Given the description of an element on the screen output the (x, y) to click on. 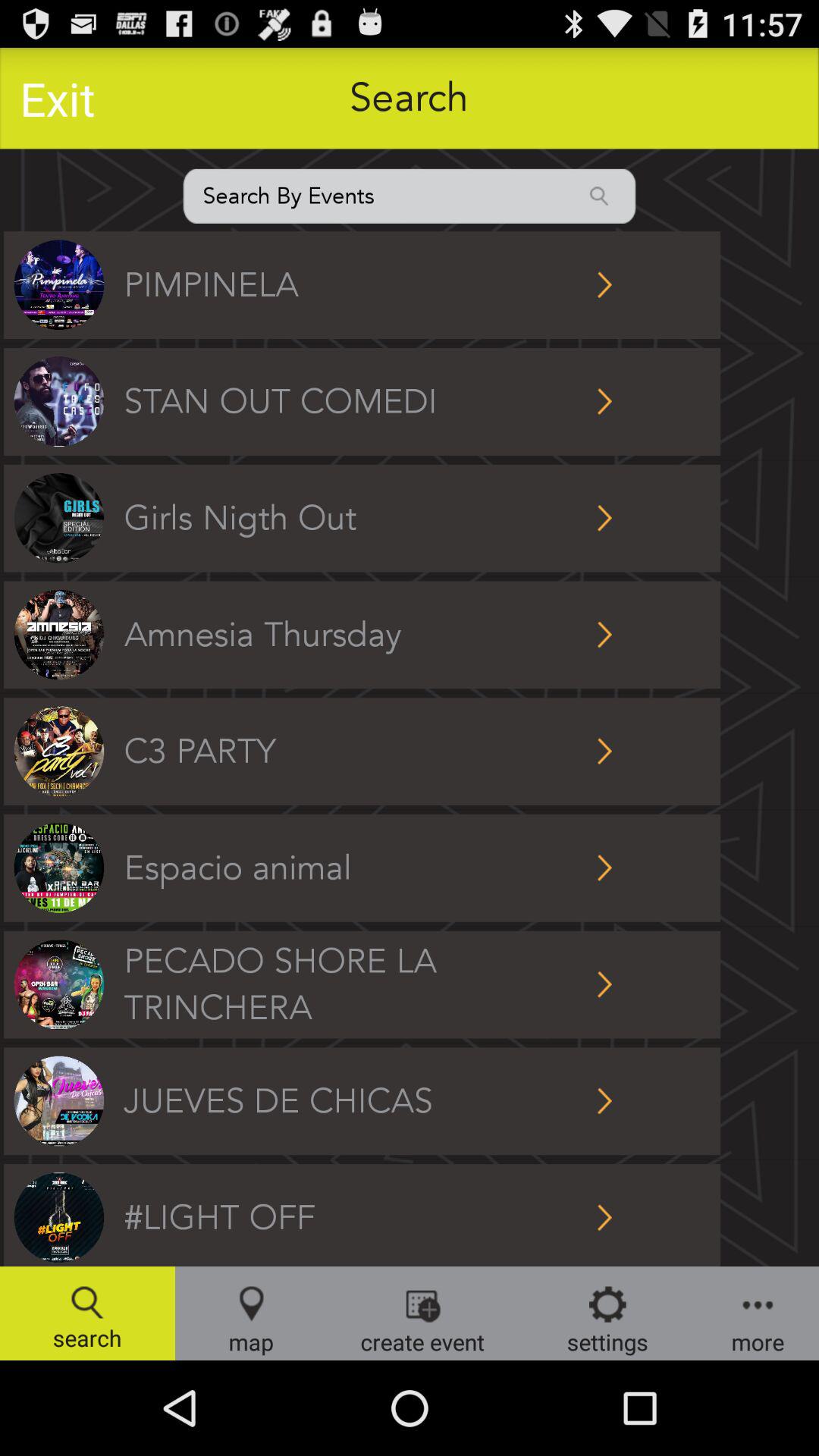
search (409, 195)
